Given the description of an element on the screen output the (x, y) to click on. 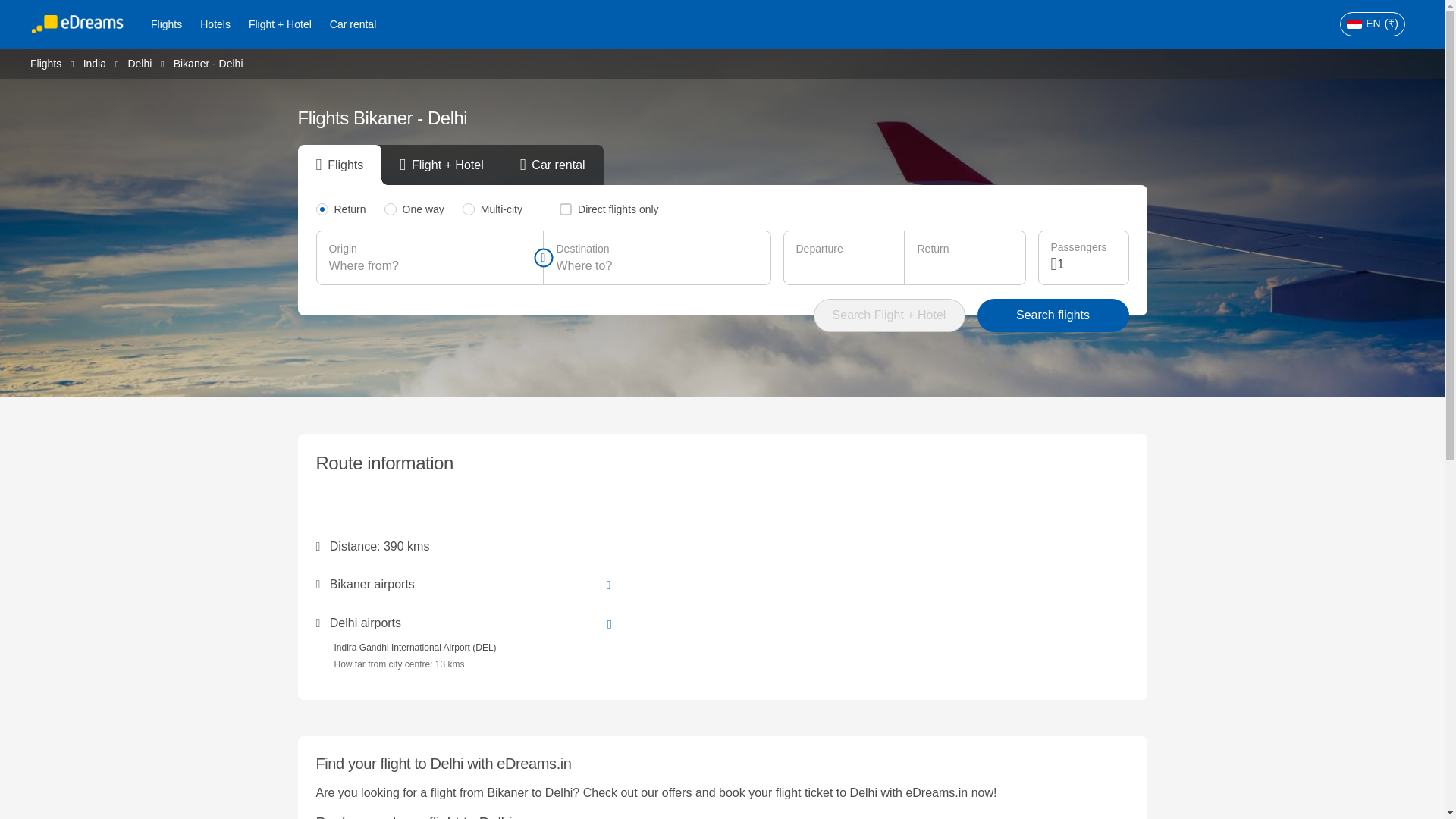
Delhi (139, 62)
Bikaner - Delhi (208, 63)
India (94, 62)
Flights (165, 24)
Search flights (1052, 315)
Hotels (215, 24)
1 (1086, 263)
Car rental (352, 24)
Flights (45, 62)
